Given the description of an element on the screen output the (x, y) to click on. 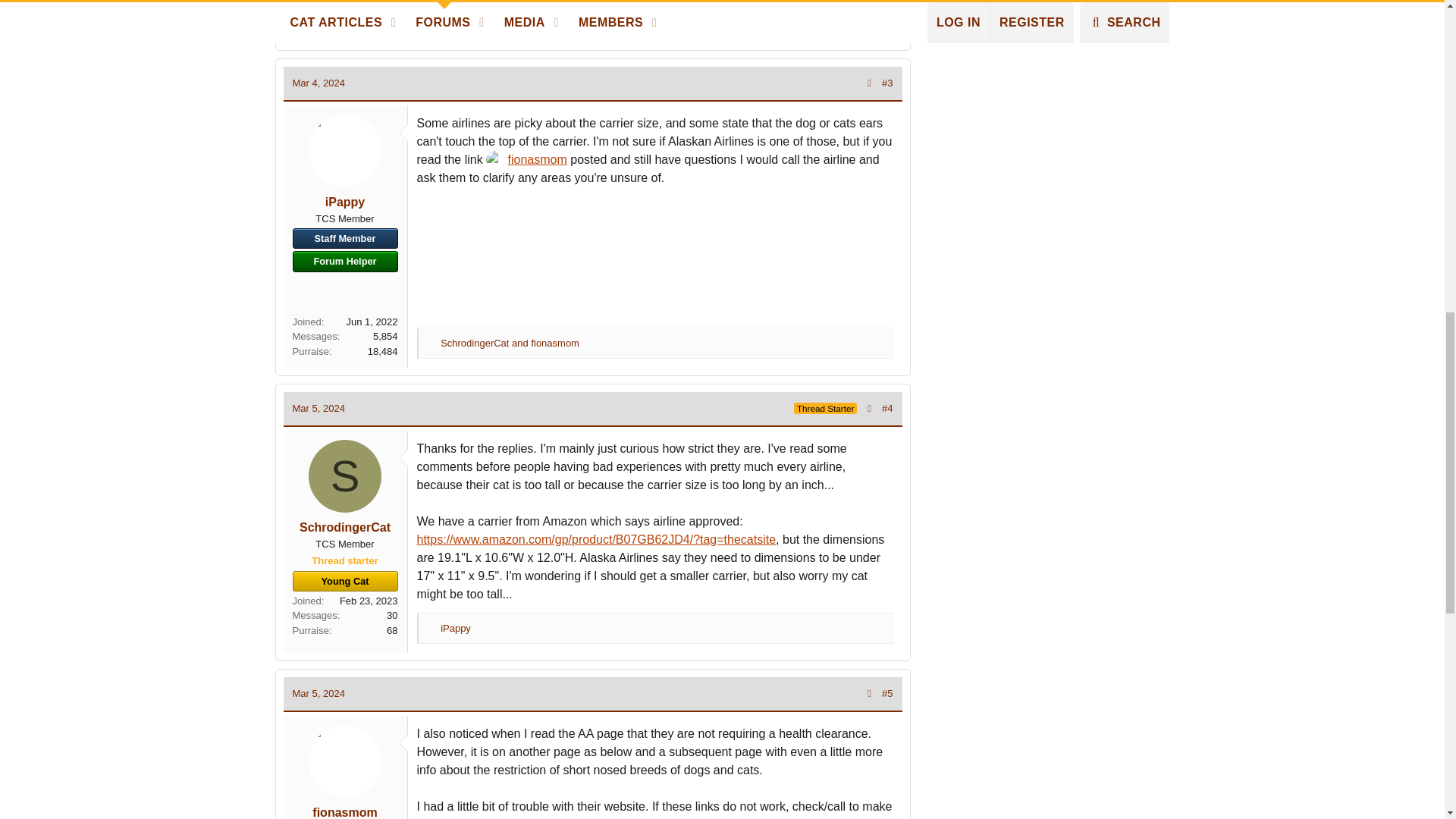
Purraise (432, 628)
Mar 4, 2024 at 5:01 PM (318, 82)
Mar 5, 2024 at 10:05 AM (318, 693)
Purraise (432, 343)
Mar 5, 2024 at 1:20 AM (318, 408)
Purraise (432, 18)
